Given the description of an element on the screen output the (x, y) to click on. 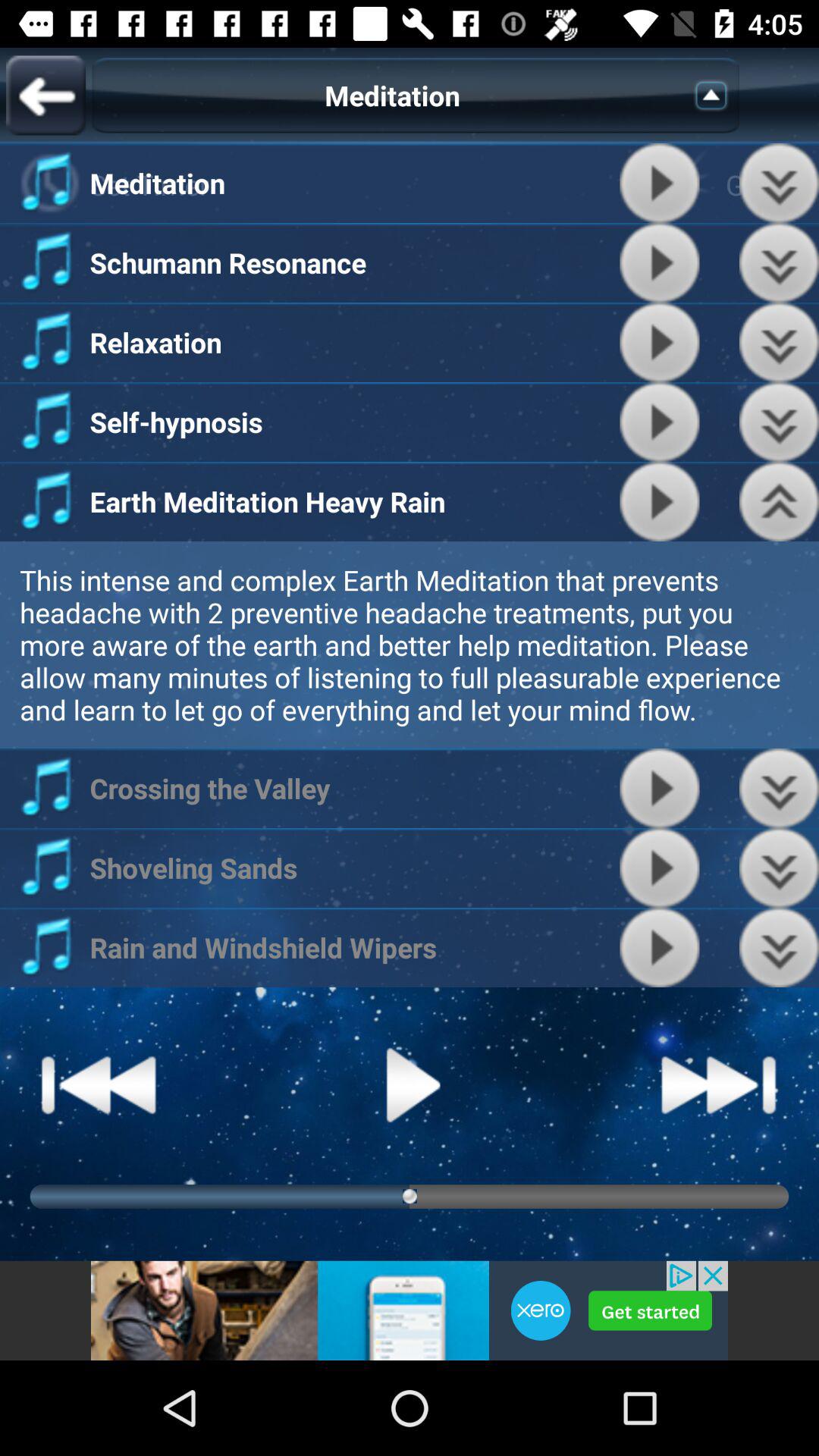
select the symbol (716, 95)
